Given the description of an element on the screen output the (x, y) to click on. 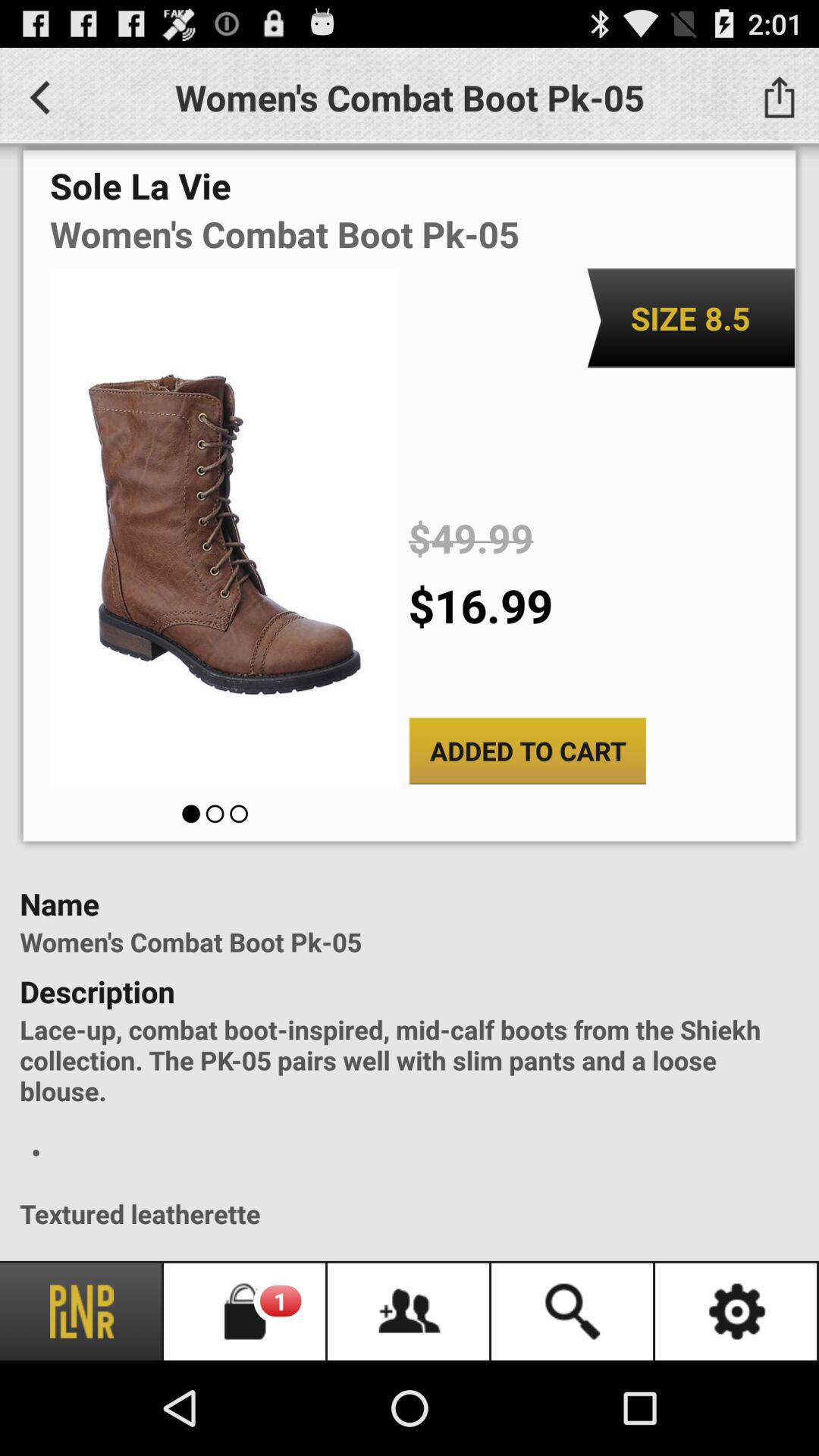
click on the search icon (573, 1311)
select the icon which is before the search icon (409, 1311)
select size 85 (690, 317)
select added to cart (527, 751)
